Given the description of an element on the screen output the (x, y) to click on. 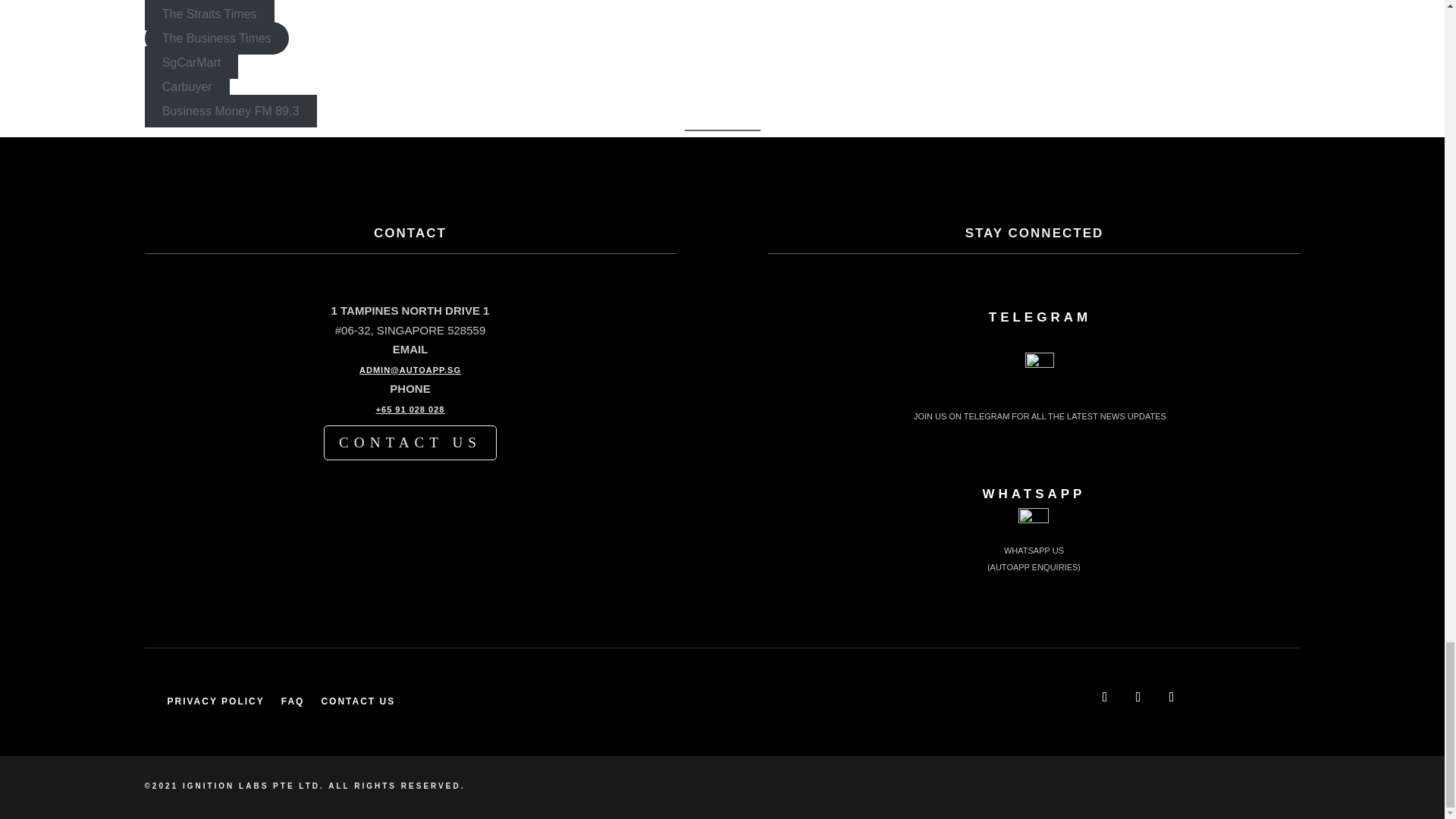
Follow on Instagram (1171, 696)
The Straits Times (208, 14)
Follow on Facebook (1104, 696)
Carbuyer (186, 86)
PRIVACY POLICY (215, 701)
CONTACT US (409, 442)
Business Money FM 89.3 (229, 110)
The Business Times (216, 38)
CONTACT US (357, 701)
SgCarMart (191, 61)
